Given the description of an element on the screen output the (x, y) to click on. 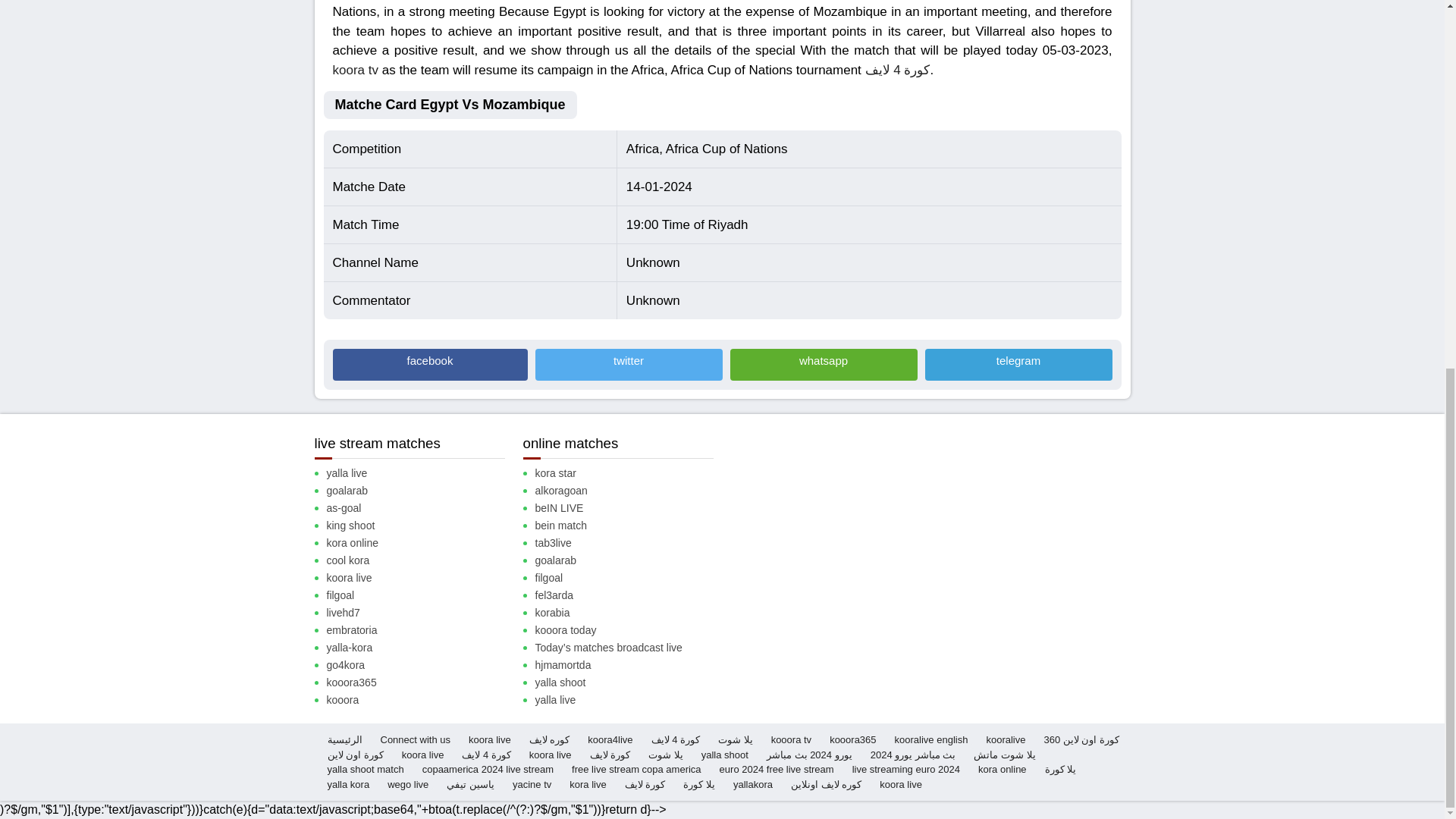
kooora365 (421, 682)
cool kora (421, 560)
yalla live (421, 473)
livehd7 (421, 612)
Share to facebook (429, 364)
king shoot (421, 525)
twitter (628, 364)
Share to twitter (628, 364)
whatsapp (823, 364)
kora star (630, 473)
